Given the description of an element on the screen output the (x, y) to click on. 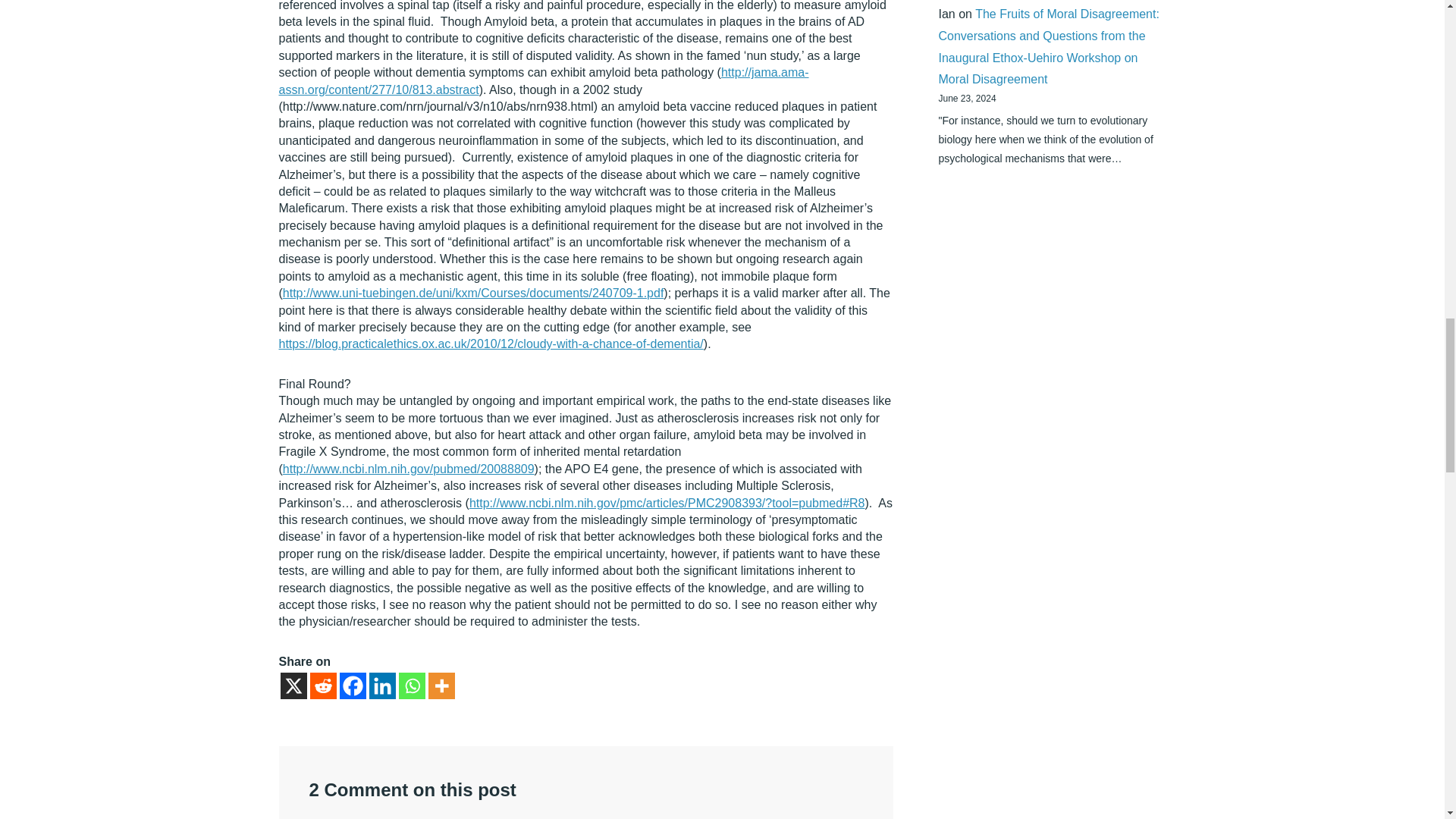
Facebook (352, 685)
Linkedin (381, 685)
X (294, 685)
Reddit (322, 685)
More (441, 685)
Whatsapp (411, 685)
